Given the description of an element on the screen output the (x, y) to click on. 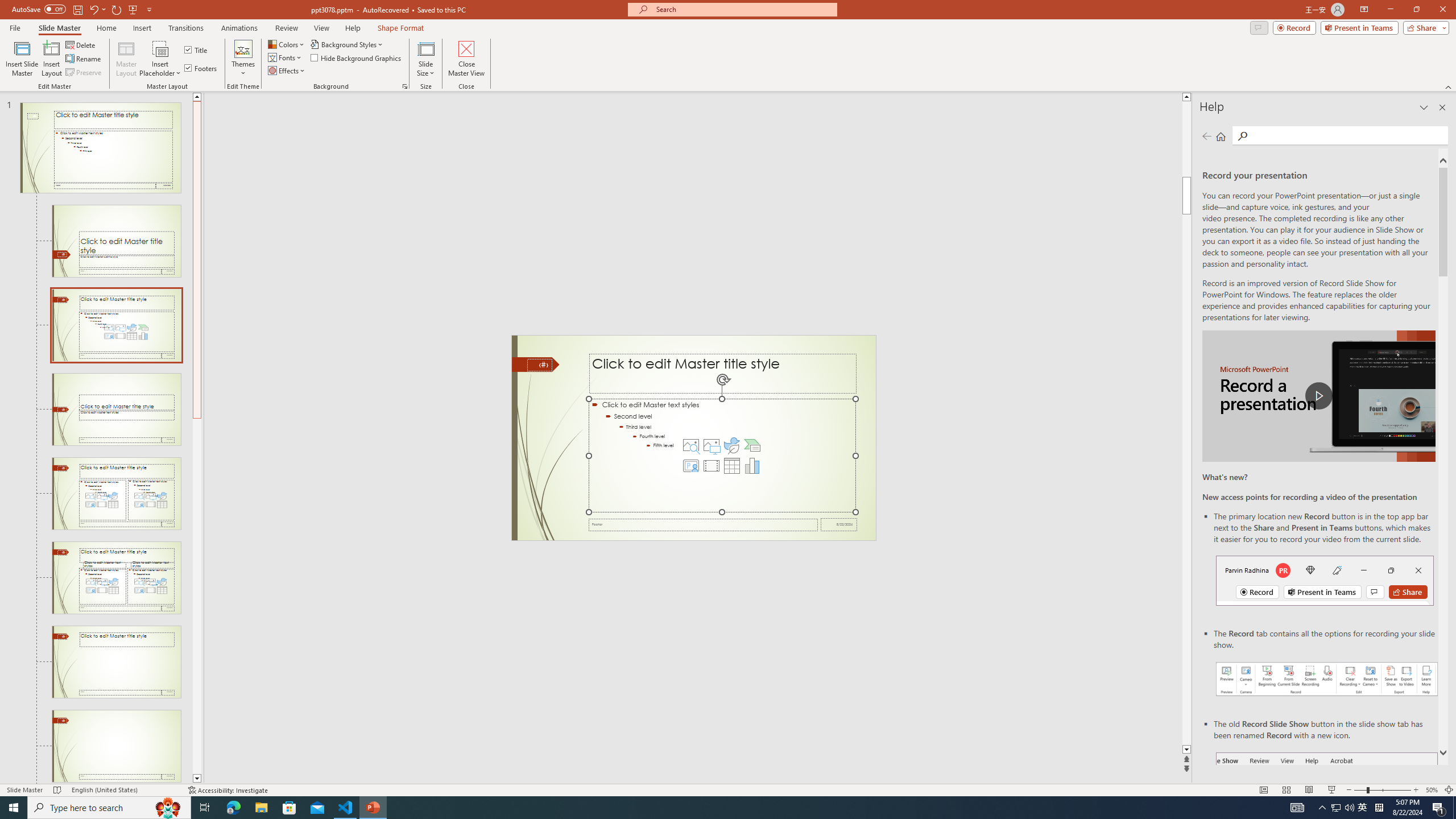
Insert Layout (51, 58)
Preserve (84, 72)
Delete (81, 44)
Freeform 11 (535, 364)
Record button in top bar (1324, 580)
Slide Size (425, 58)
